Given the description of an element on the screen output the (x, y) to click on. 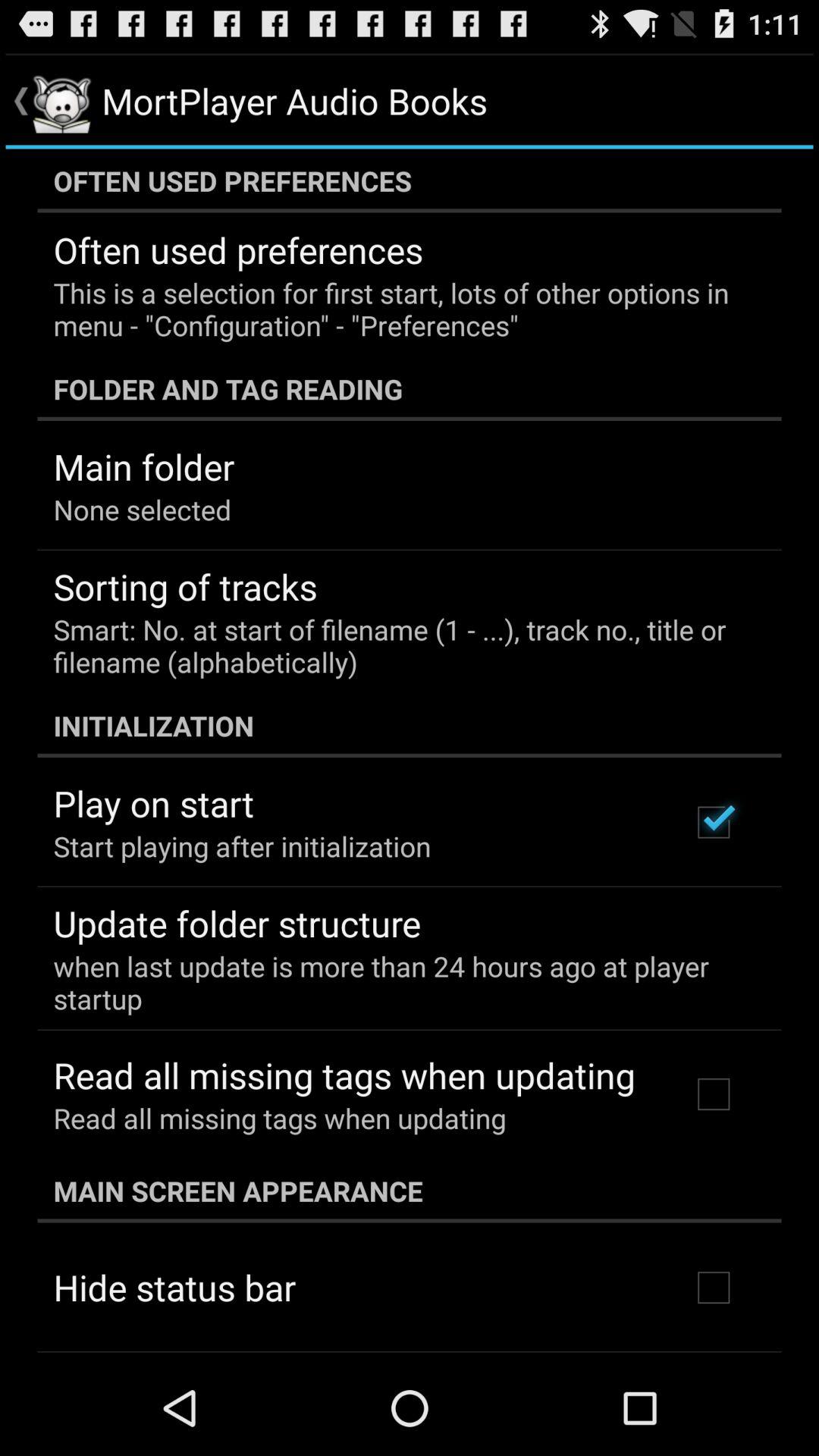
jump until play on start item (153, 803)
